Given the description of an element on the screen output the (x, y) to click on. 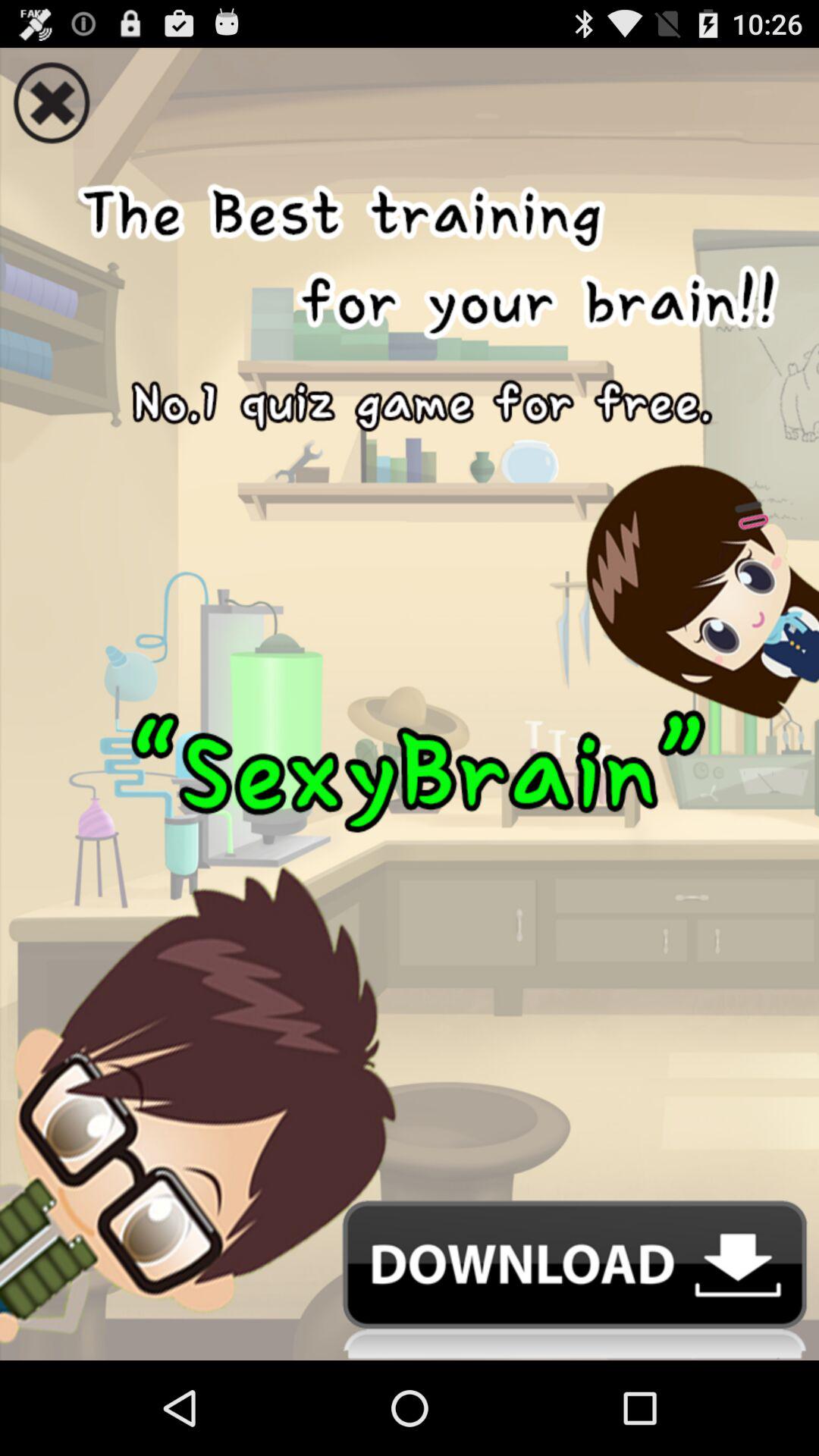
click download bar (409, 1280)
